Given the description of an element on the screen output the (x, y) to click on. 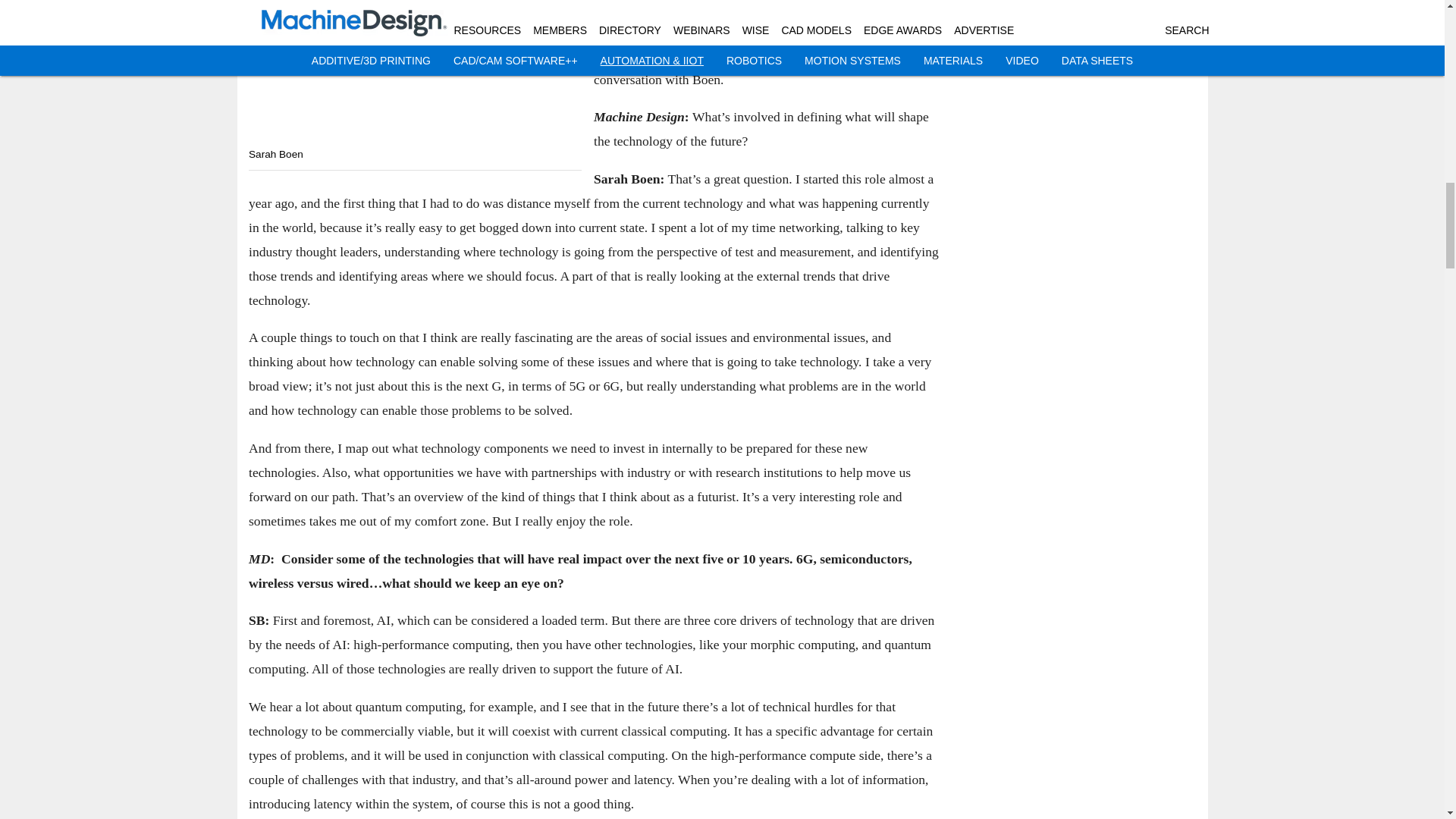
Sarah Boen (414, 69)
